Given the description of an element on the screen output the (x, y) to click on. 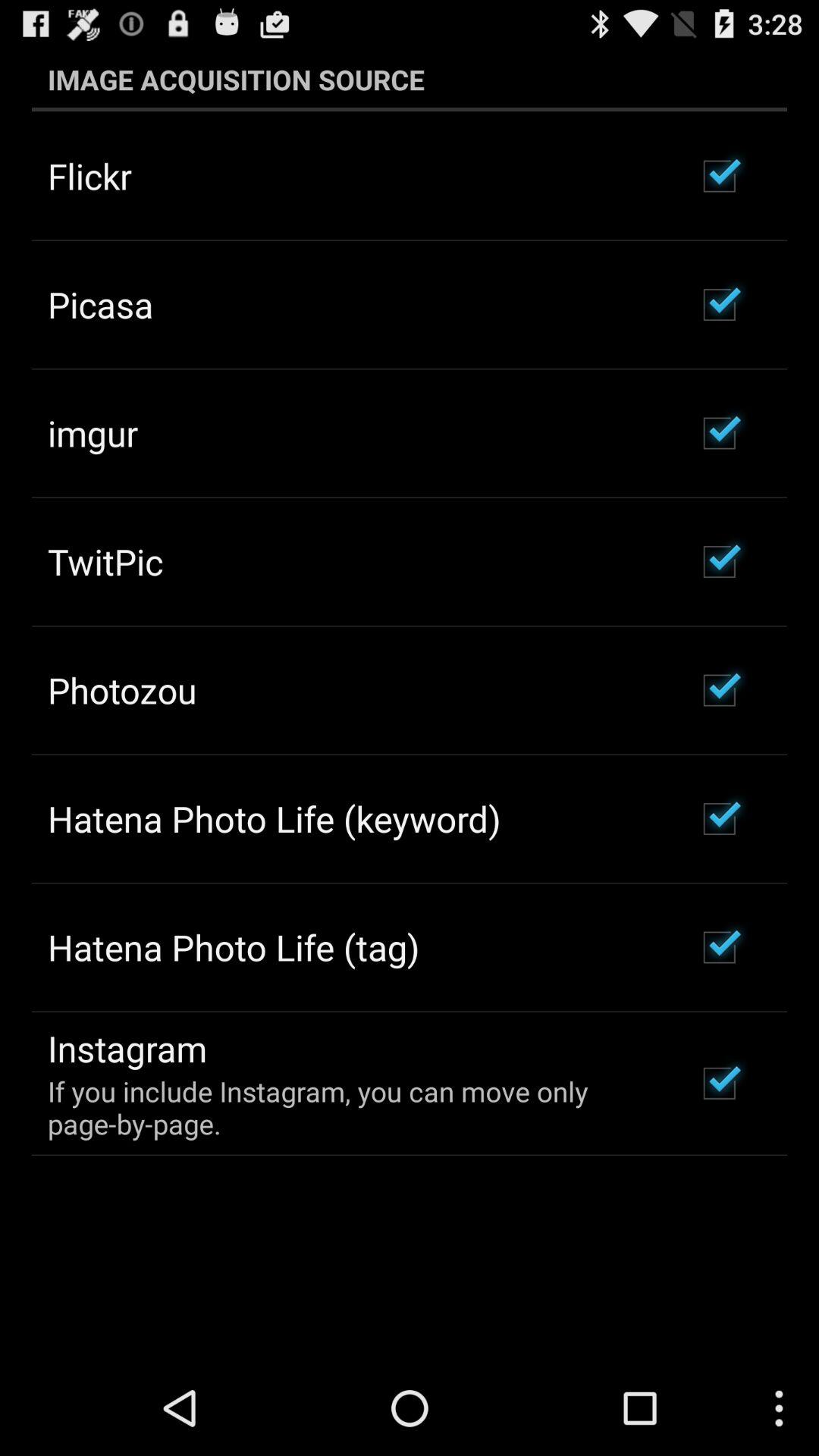
turn off the twitpic icon (105, 561)
